Given the description of an element on the screen output the (x, y) to click on. 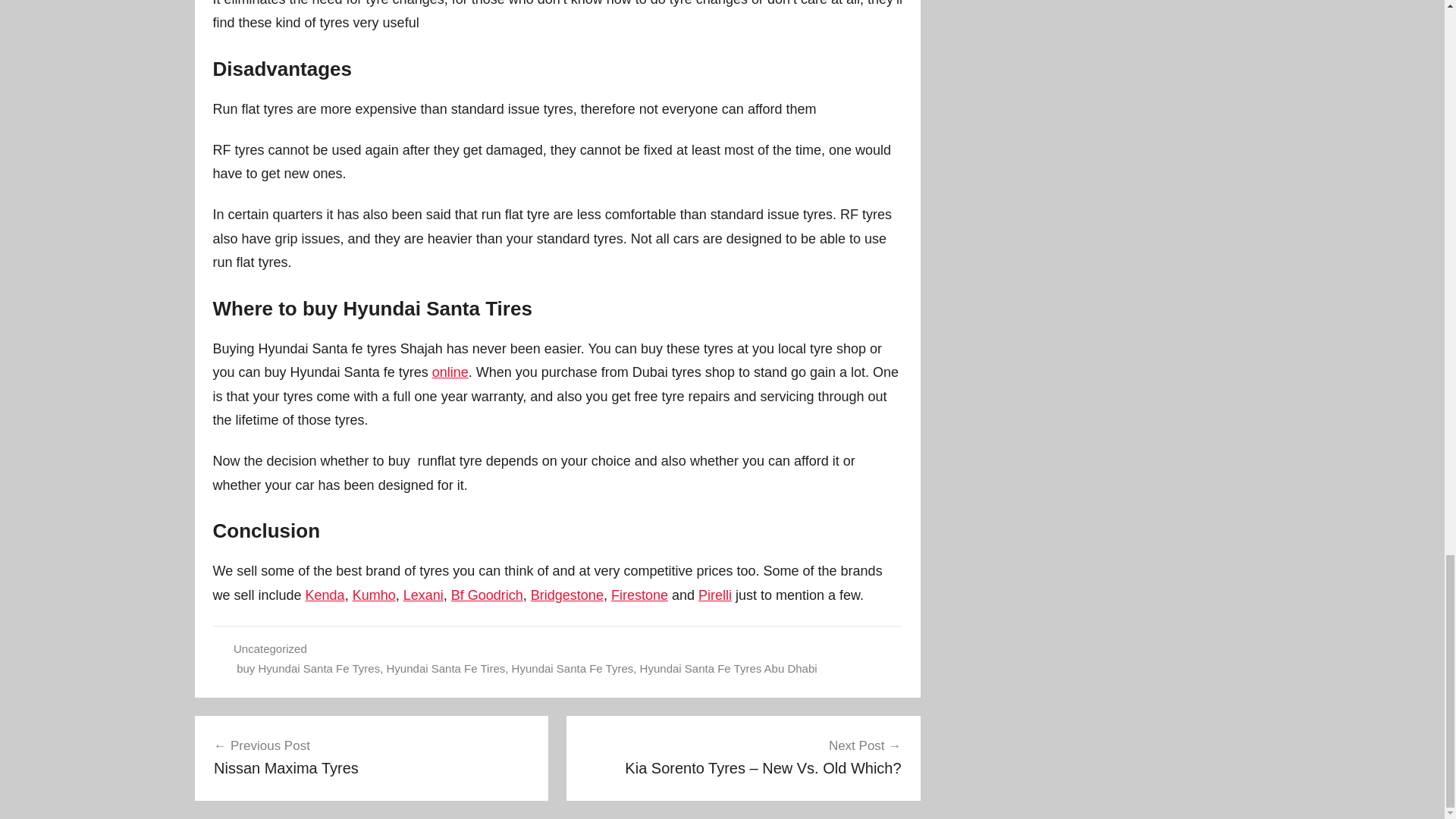
online (450, 372)
buy Hyundai Santa Fe Tyres (307, 667)
Kenda (325, 595)
Lexani (423, 595)
Bf Goodrich (486, 595)
Hyundai Santa Fe Tyres (572, 667)
Hyundai Santa Fe Tyres Abu Dhabi (728, 667)
Firestone (639, 595)
Pirelli (371, 756)
Hyundai Santa Fe Tires (715, 595)
Bridgestone (446, 667)
Kumho (567, 595)
Uncategorized (374, 595)
